Given the description of an element on the screen output the (x, y) to click on. 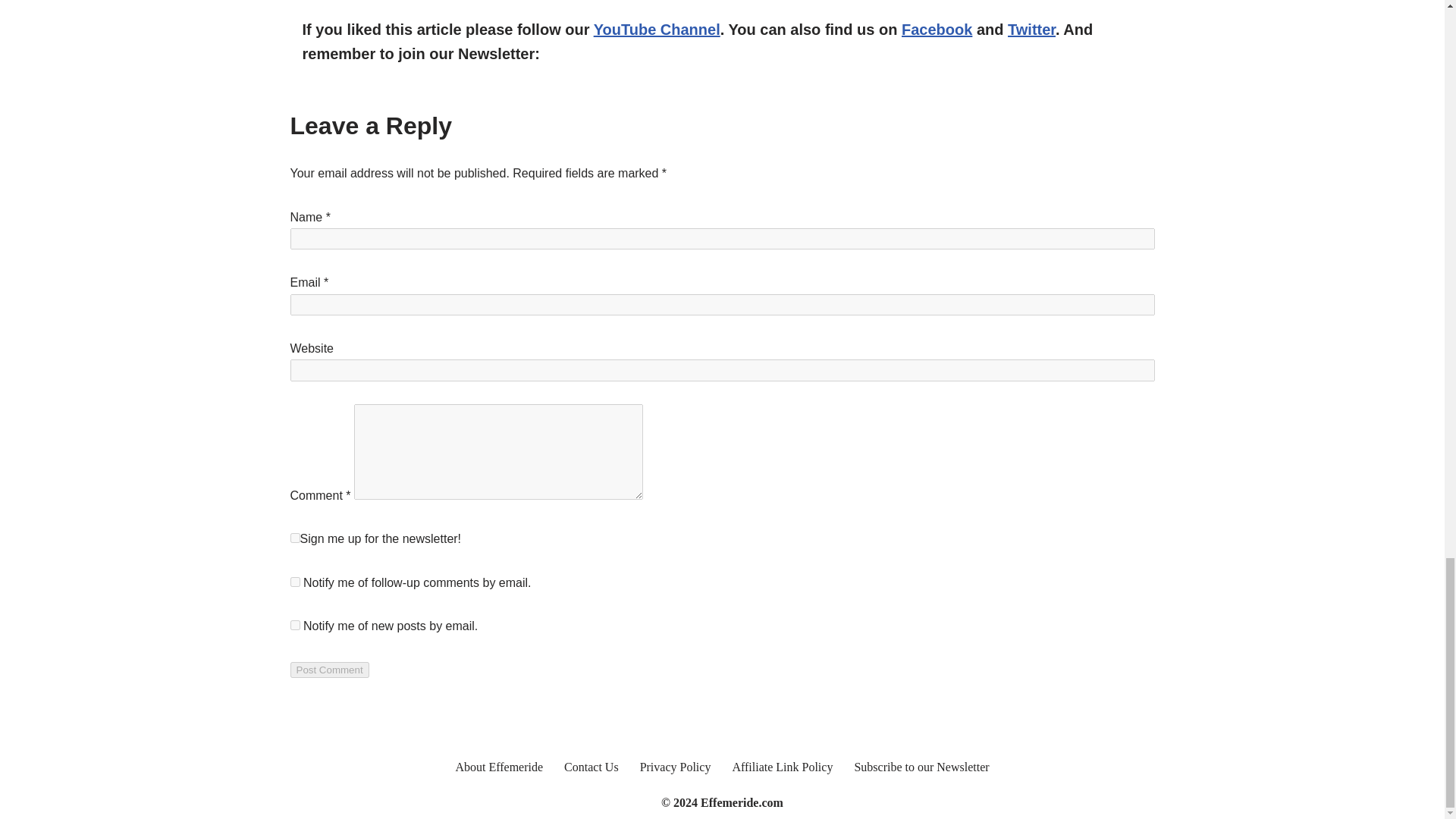
subscribe (294, 582)
subscribe (294, 624)
1 (294, 537)
Post Comment (328, 669)
